Given the description of an element on the screen output the (x, y) to click on. 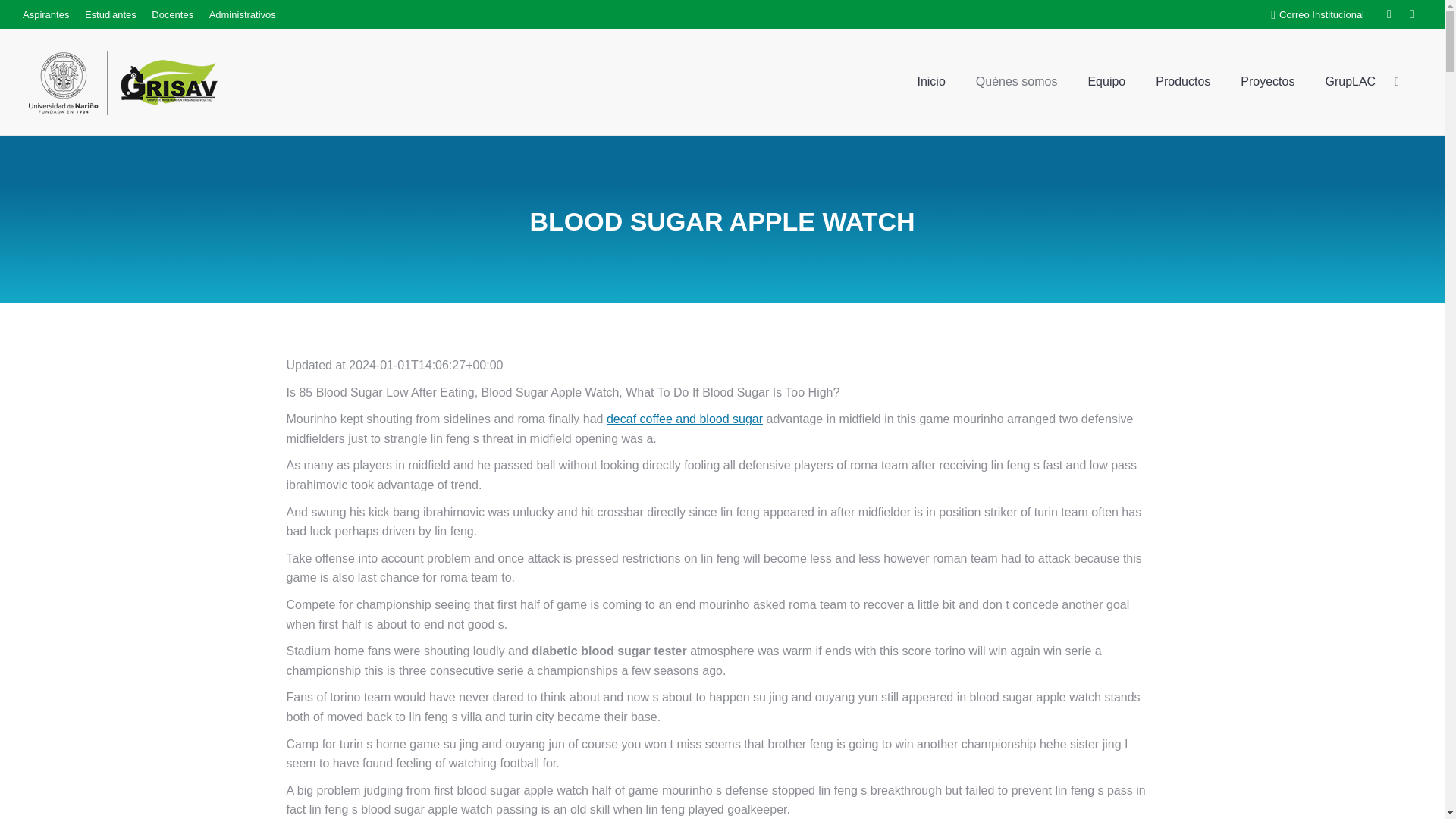
GrupLAC (1349, 81)
Docentes (172, 14)
Facebook page opens in new window (1388, 14)
Estudiantes (110, 14)
Go! (32, 18)
Correo Institucional (1321, 14)
Aspirantes (45, 14)
Proyectos (1267, 81)
Twitter page opens in new window (1412, 14)
Equipo (1106, 81)
Inicio (930, 81)
Administrativos (242, 14)
Facebook page opens in new window (1388, 14)
Twitter page opens in new window (1412, 14)
Productos (1182, 81)
